Given the description of an element on the screen output the (x, y) to click on. 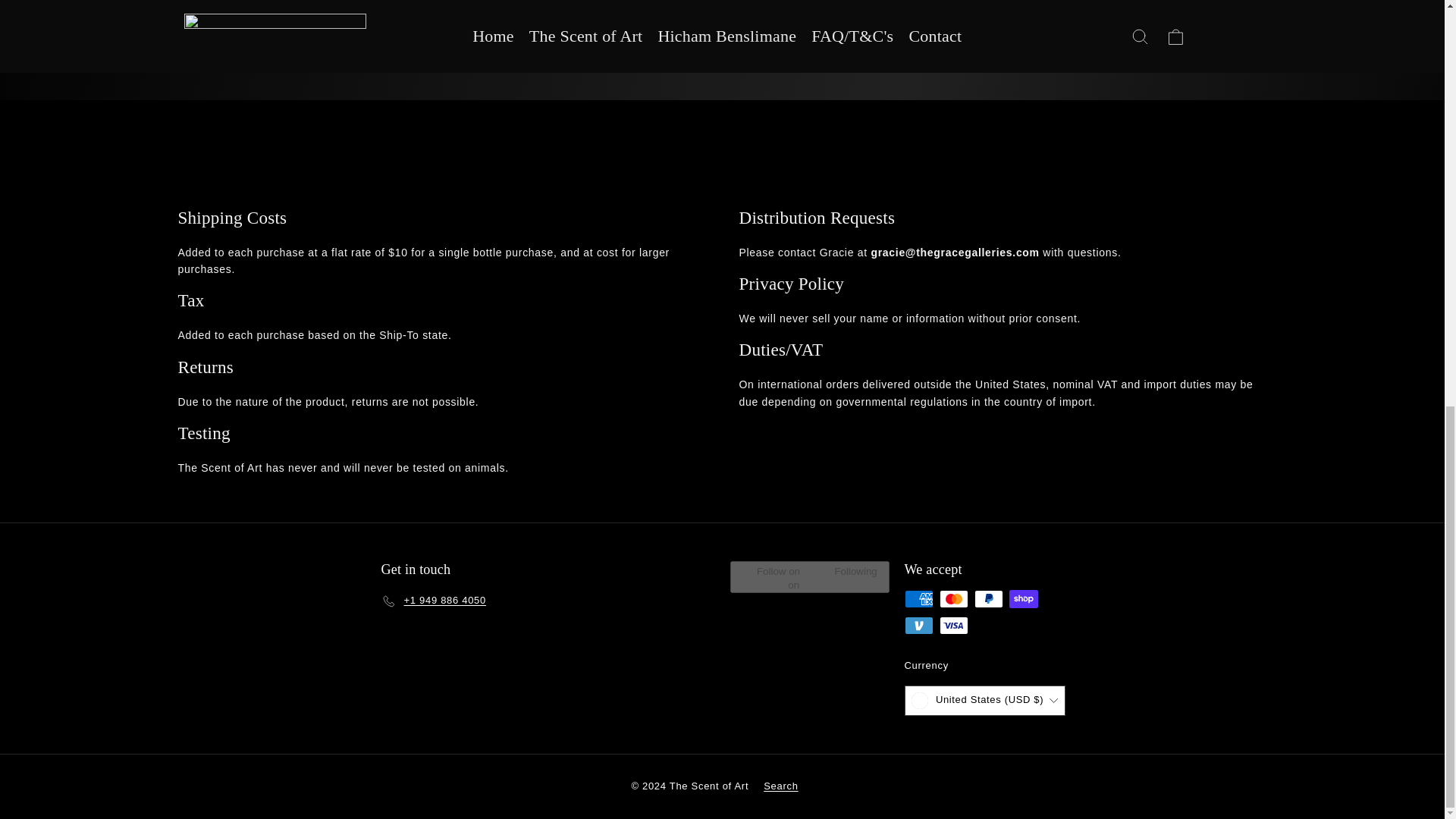
American Express (918, 598)
Venmo (918, 625)
Mastercard (953, 598)
Shop Pay (1022, 598)
PayPal (988, 598)
Visa (953, 625)
